Given the description of an element on the screen output the (x, y) to click on. 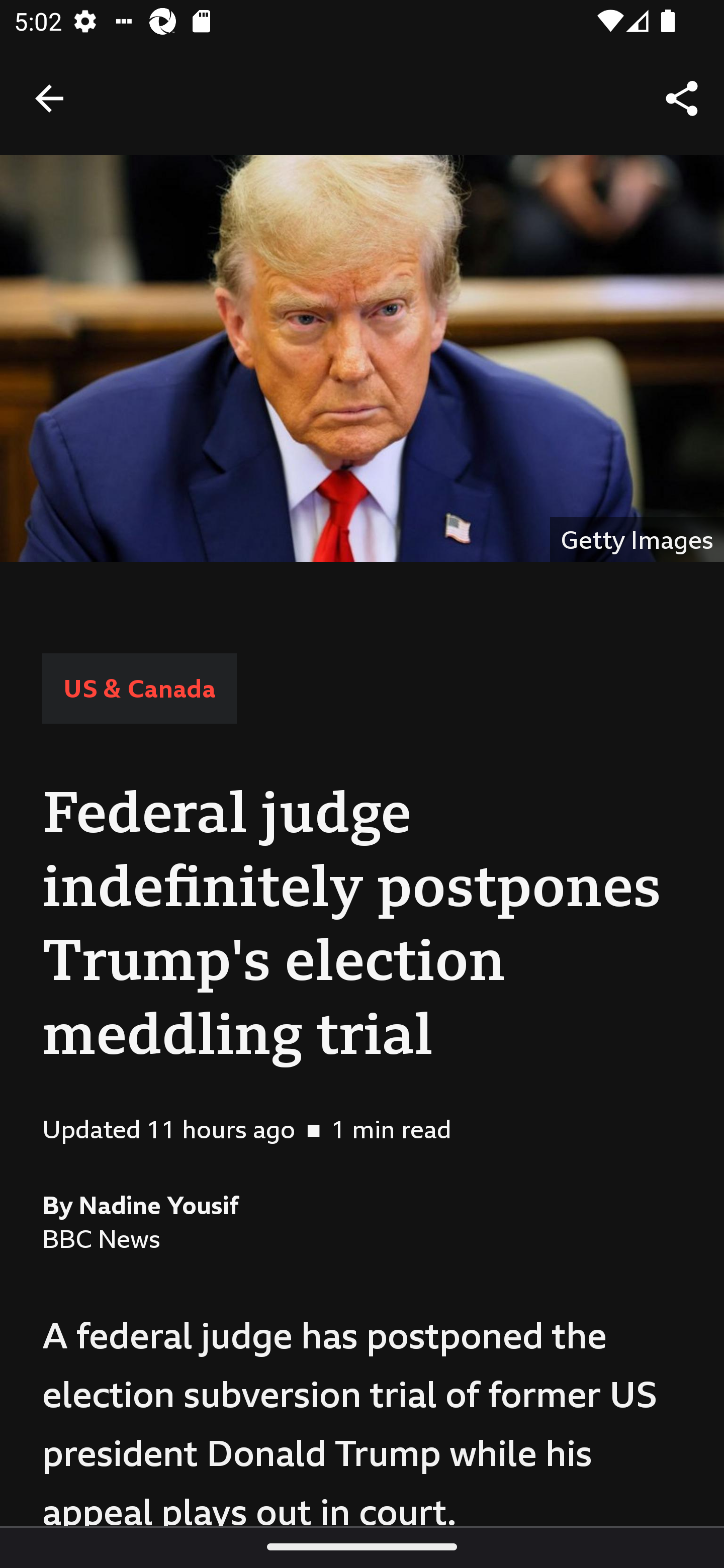
Back (49, 97)
Share (681, 98)
US & Canada (138, 688)
